Given the description of an element on the screen output the (x, y) to click on. 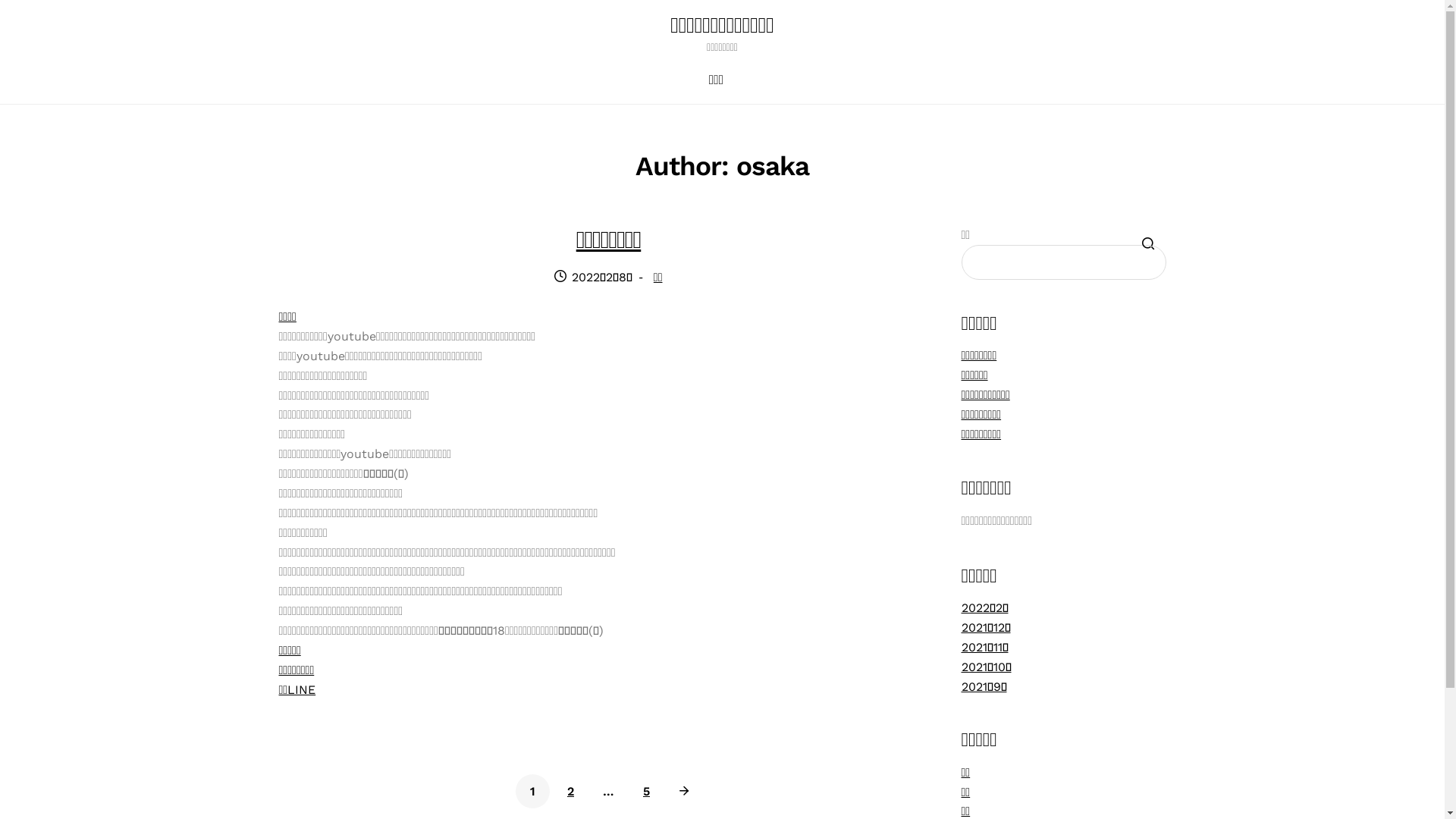
2 Element type: text (570, 791)
Skip to navigation Element type: text (277, 33)
5 Element type: text (646, 791)
